Given the description of an element on the screen output the (x, y) to click on. 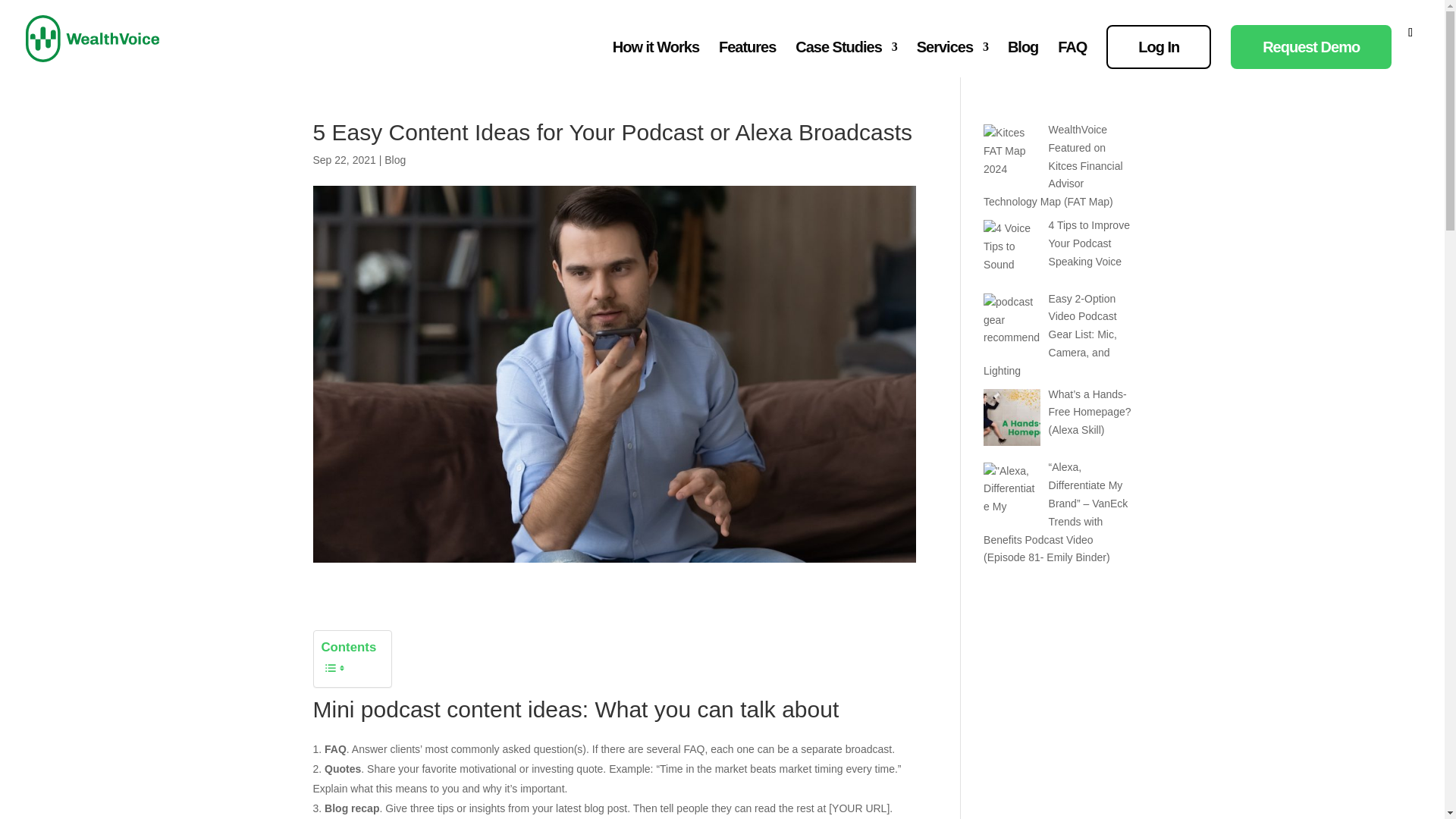
Services (952, 58)
How it Works (655, 58)
Case Studies (845, 58)
Log In (1158, 46)
Blog (395, 159)
Features (747, 58)
Request Demo (1310, 46)
